Given the description of an element on the screen output the (x, y) to click on. 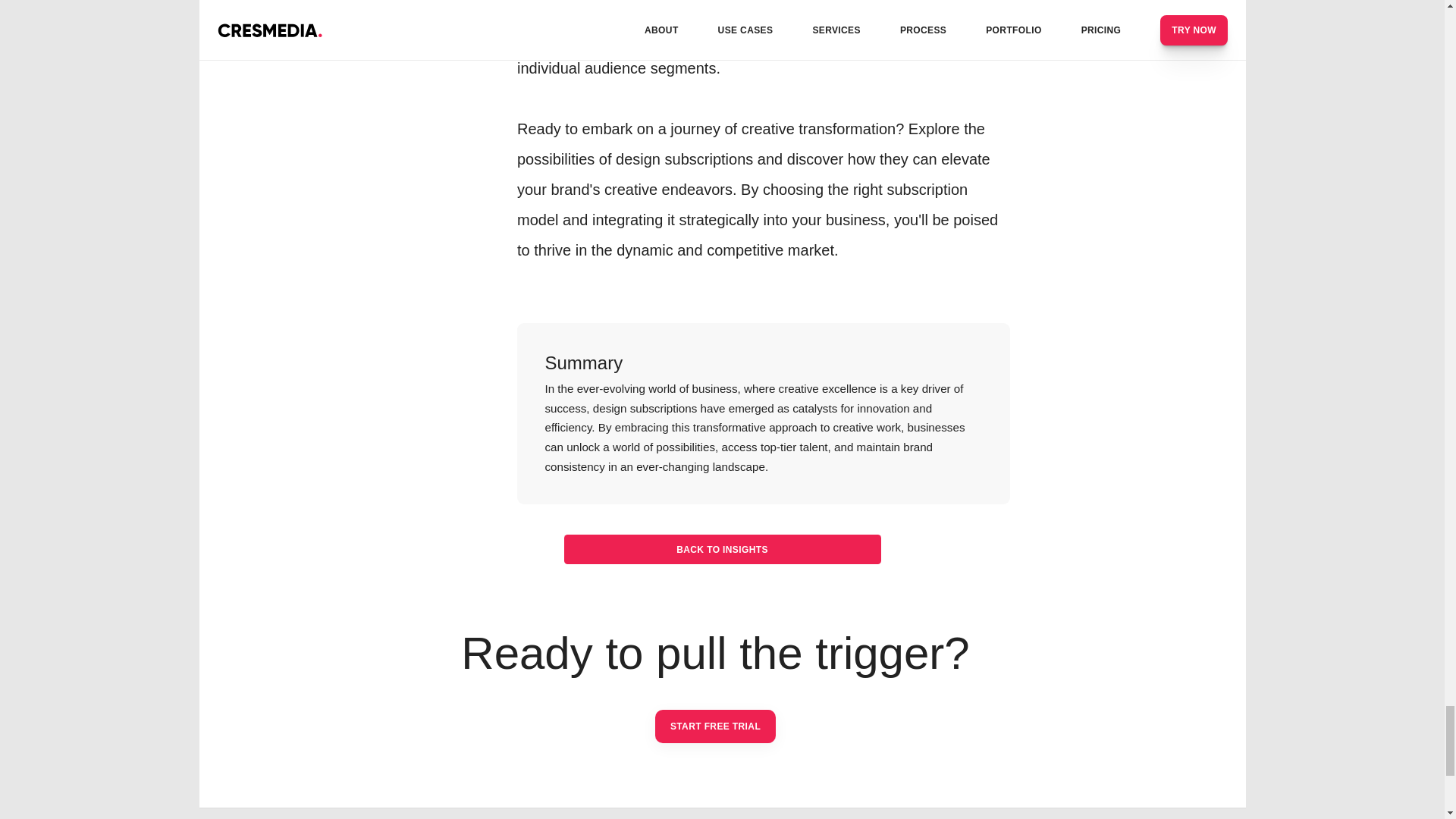
START FREE TRIAL (715, 726)
BACK TO INSIGHTS (722, 549)
